Given the description of an element on the screen output the (x, y) to click on. 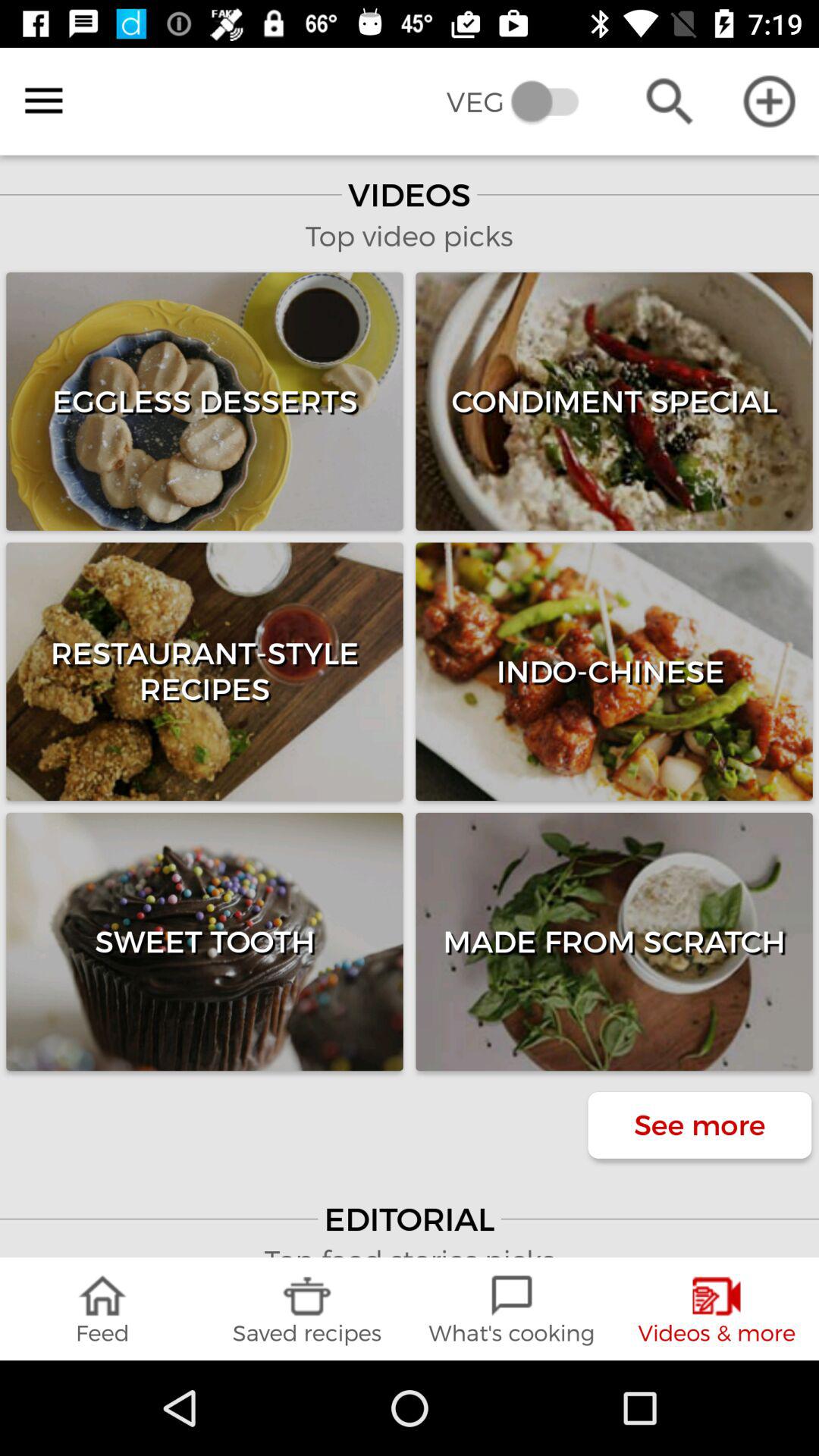
turn off the saved recipes icon (306, 1308)
